Given the description of an element on the screen output the (x, y) to click on. 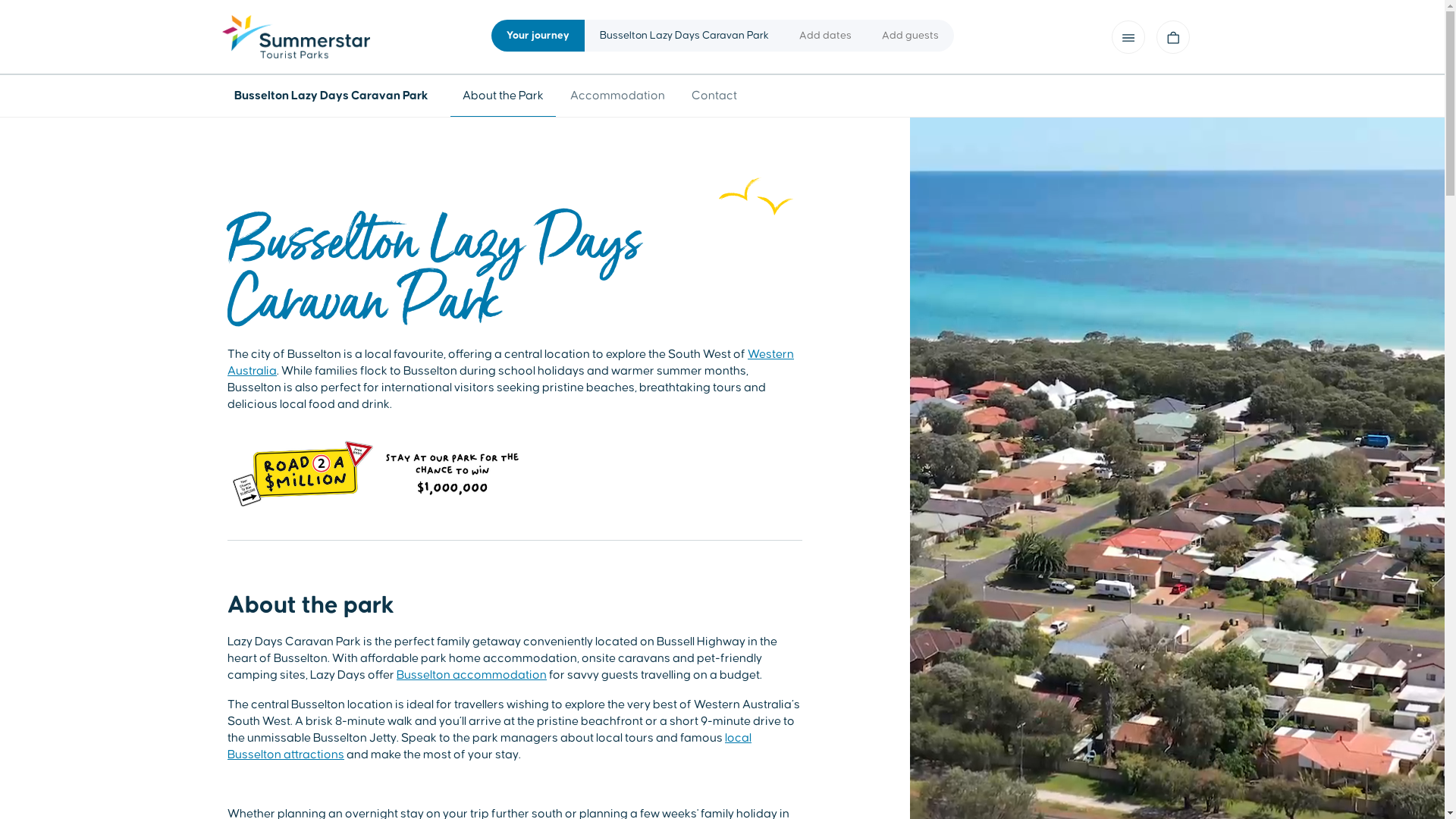
Accommodation Element type: text (617, 95)
Busselton Lazy Days Caravan Park Element type: text (334, 95)
Contact Element type: text (714, 95)
local Busselton attractions Element type: text (489, 745)
Busselton accommodation Element type: text (471, 674)
About the Park Element type: text (502, 95)
Western Australia Element type: text (510, 362)
